Given the description of an element on the screen output the (x, y) to click on. 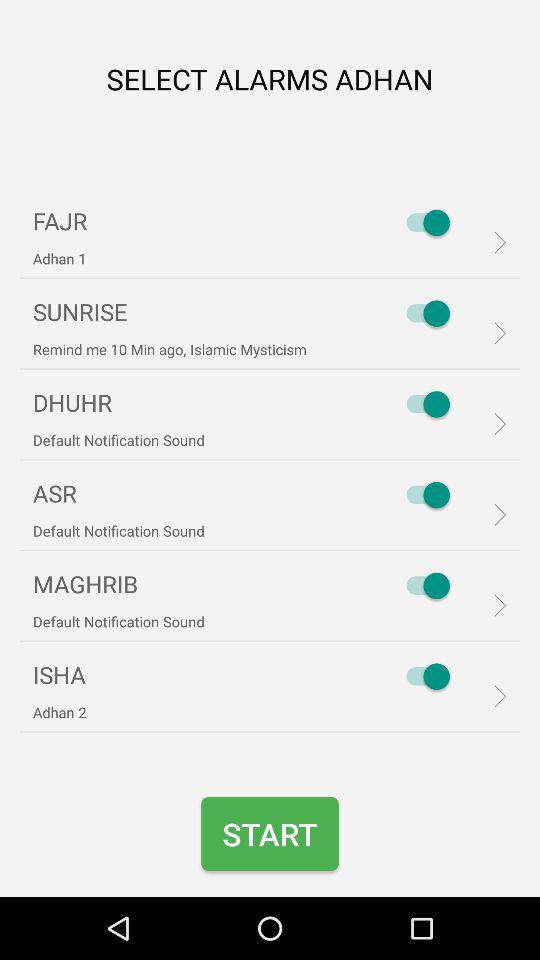
choose start icon (269, 833)
